Given the description of an element on the screen output the (x, y) to click on. 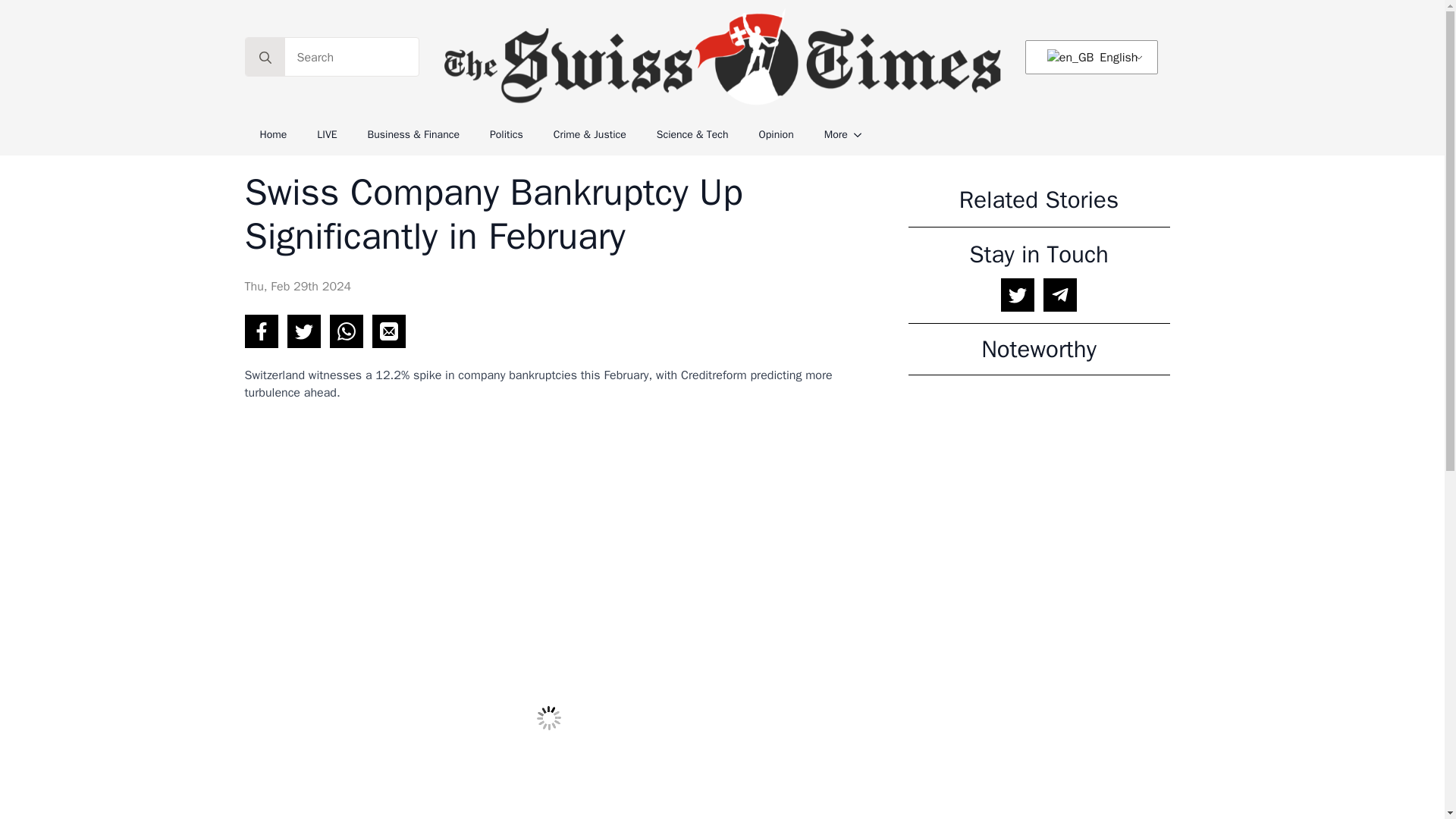
Opinion (776, 134)
English (1088, 57)
Home (272, 134)
More (828, 134)
Politics (506, 134)
LIVE (326, 134)
English (1070, 57)
English (1088, 57)
